Given the description of an element on the screen output the (x, y) to click on. 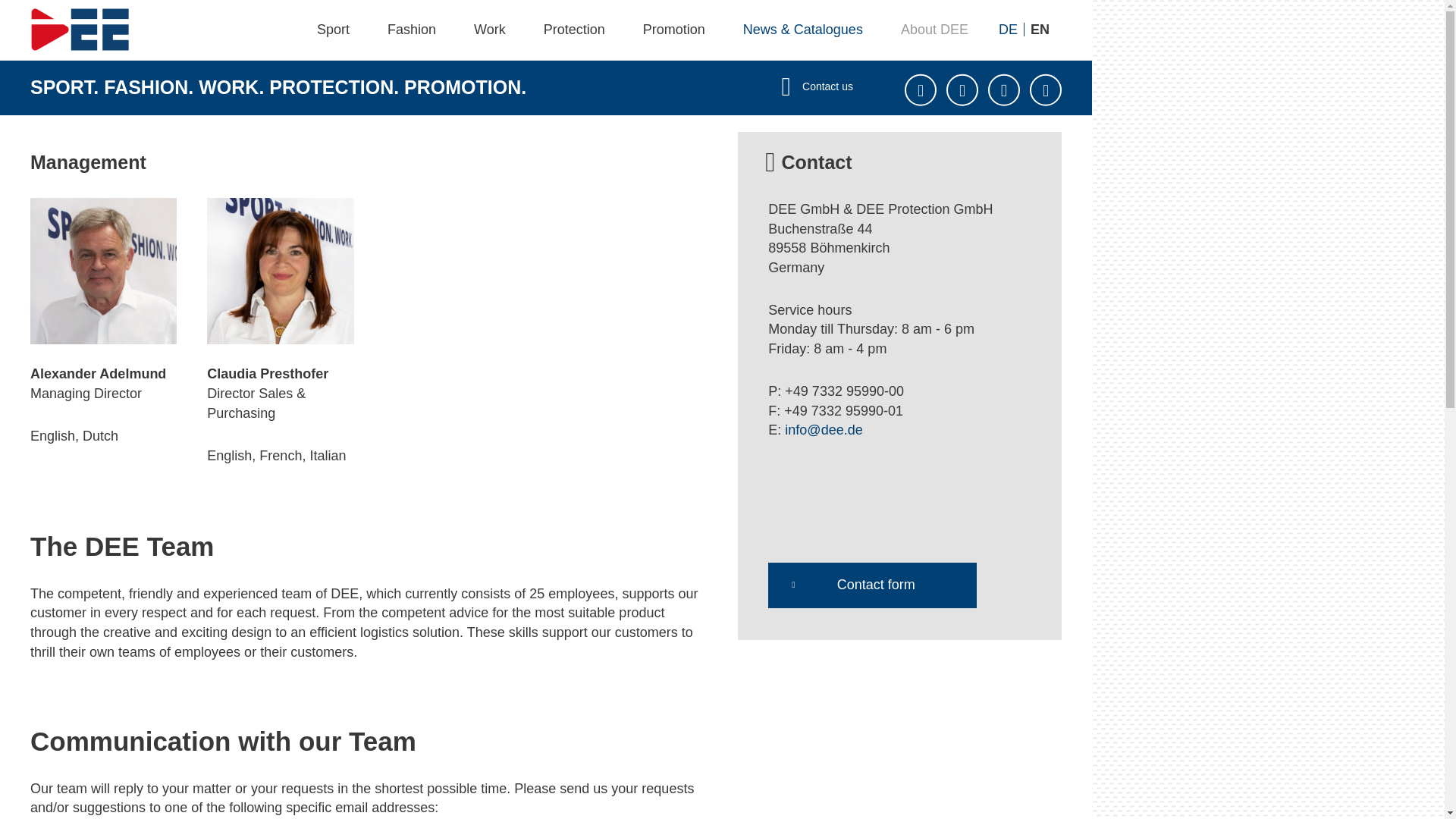
Promotion (673, 29)
Contact us (817, 86)
Work (489, 29)
About DEE (934, 29)
Protection (574, 29)
dee sportswear (79, 29)
Contact form (871, 585)
Sport (333, 29)
Fashion (411, 29)
DE (1007, 28)
